Given the description of an element on the screen output the (x, y) to click on. 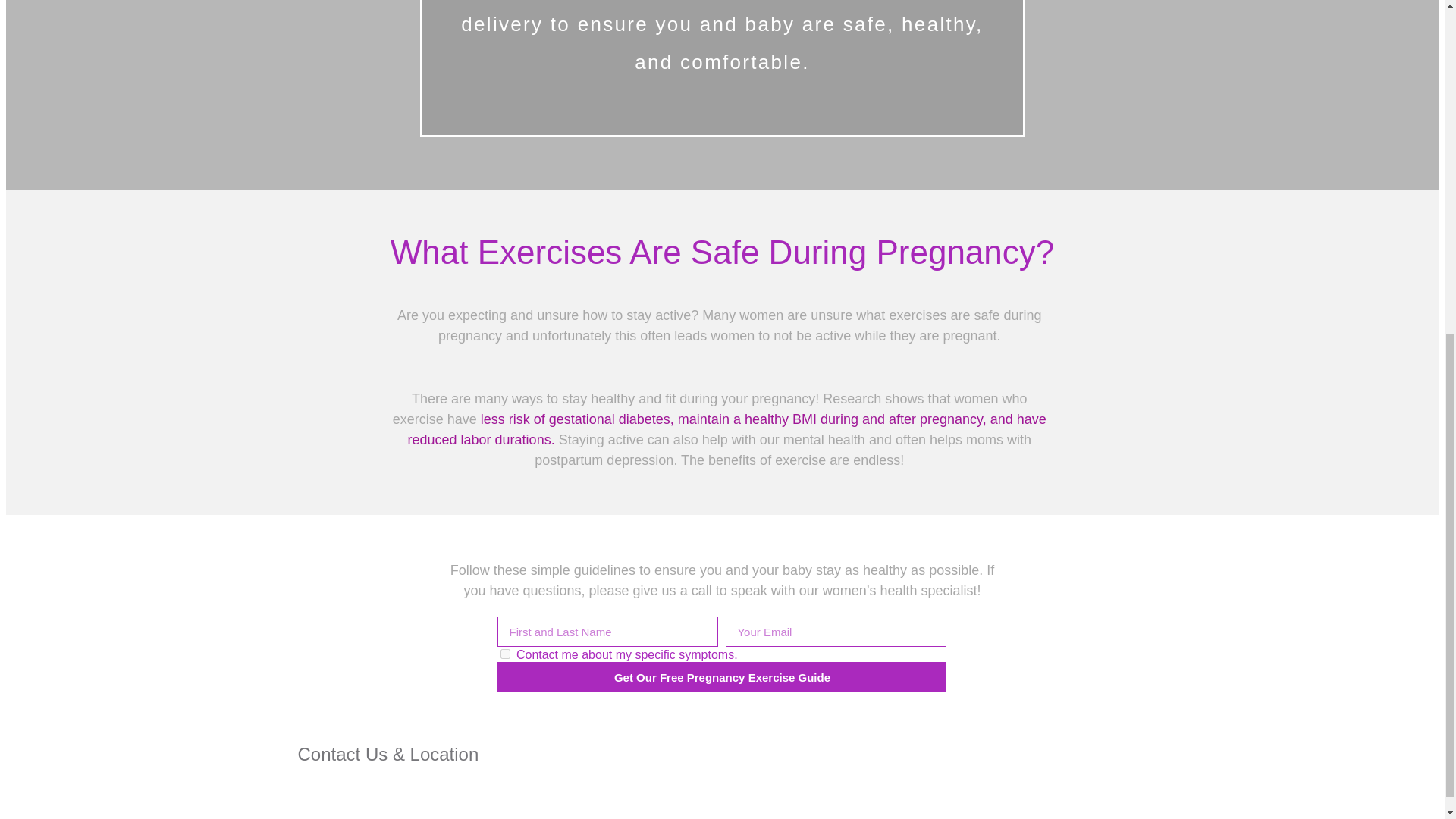
Get Our Free Pregnancy Exercise Guide (721, 676)
Online Booking for Select Appointments (415, 793)
Contact me about my specific symptoms. (505, 654)
